Given the description of an element on the screen output the (x, y) to click on. 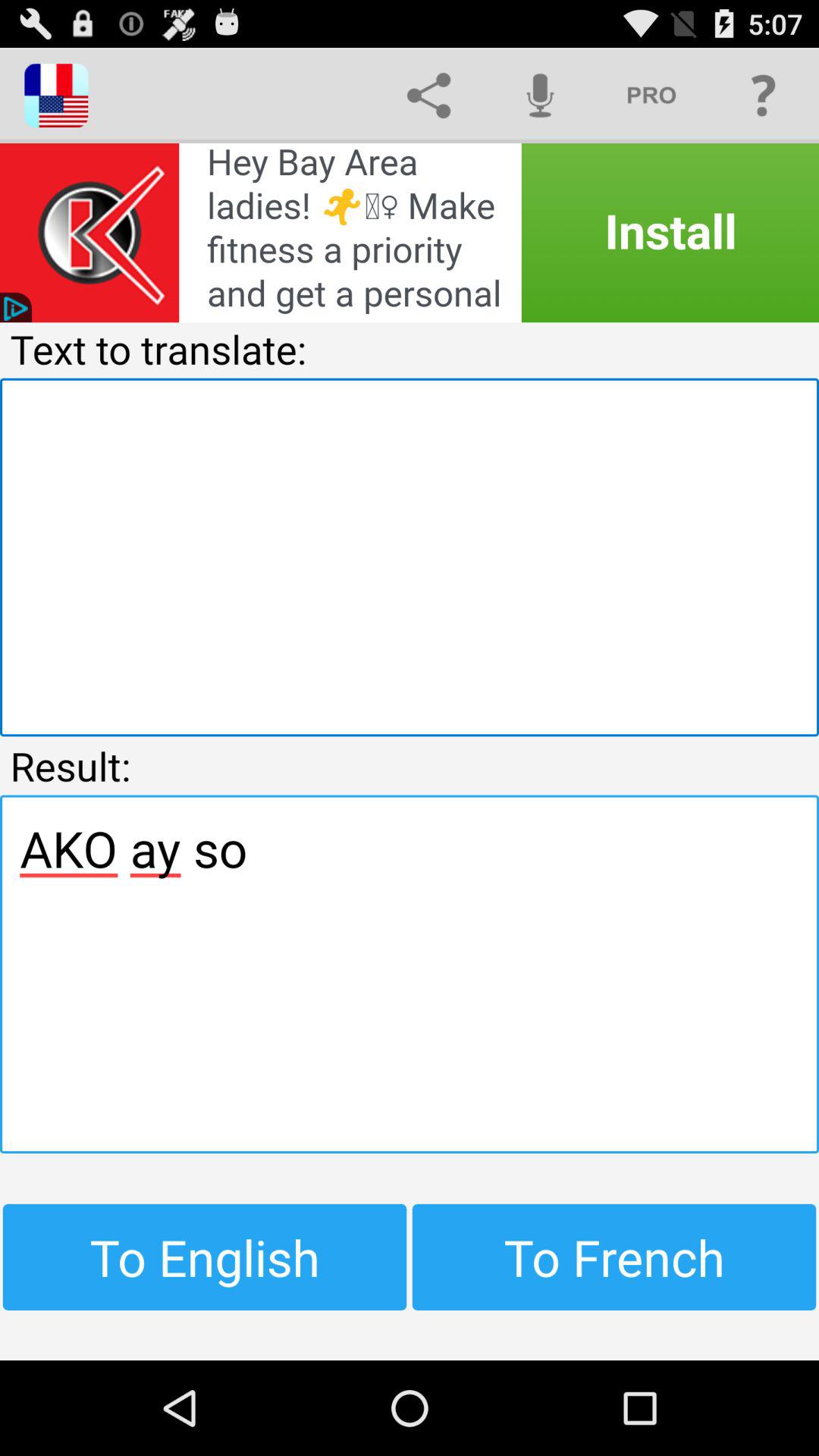
text to translate box (409, 557)
